Given the description of an element on the screen output the (x, y) to click on. 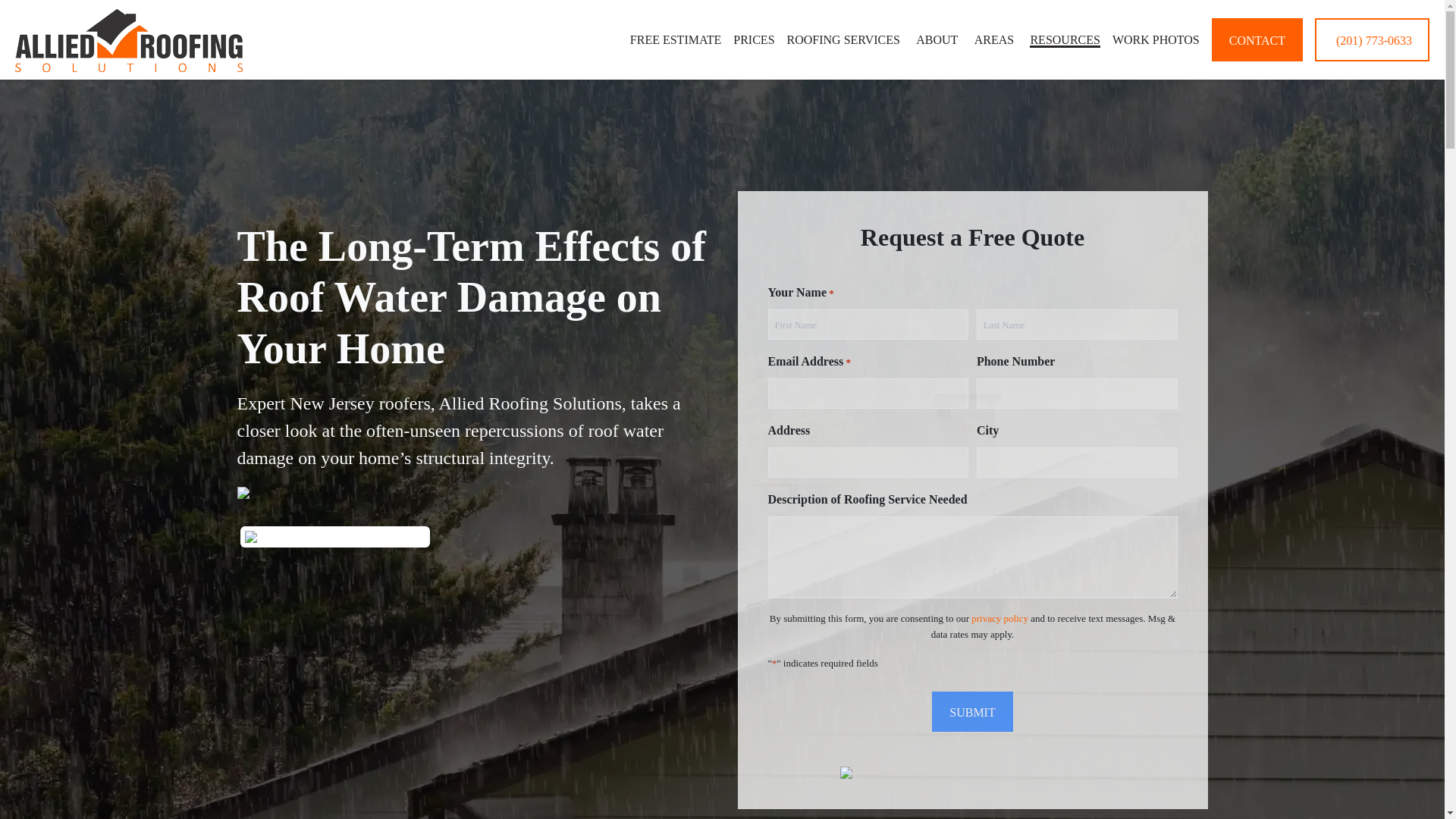
ROOFING SERVICES (845, 39)
WORK PHOTOS (1155, 39)
AREAS (995, 39)
ABOUT (937, 39)
FREE ESTIMATE (675, 39)
Allied Roofing Solutions (128, 40)
RESOURCES (1064, 39)
CONTACT (1257, 39)
PRICES (753, 39)
Submit Form (971, 711)
